Given the description of an element on the screen output the (x, y) to click on. 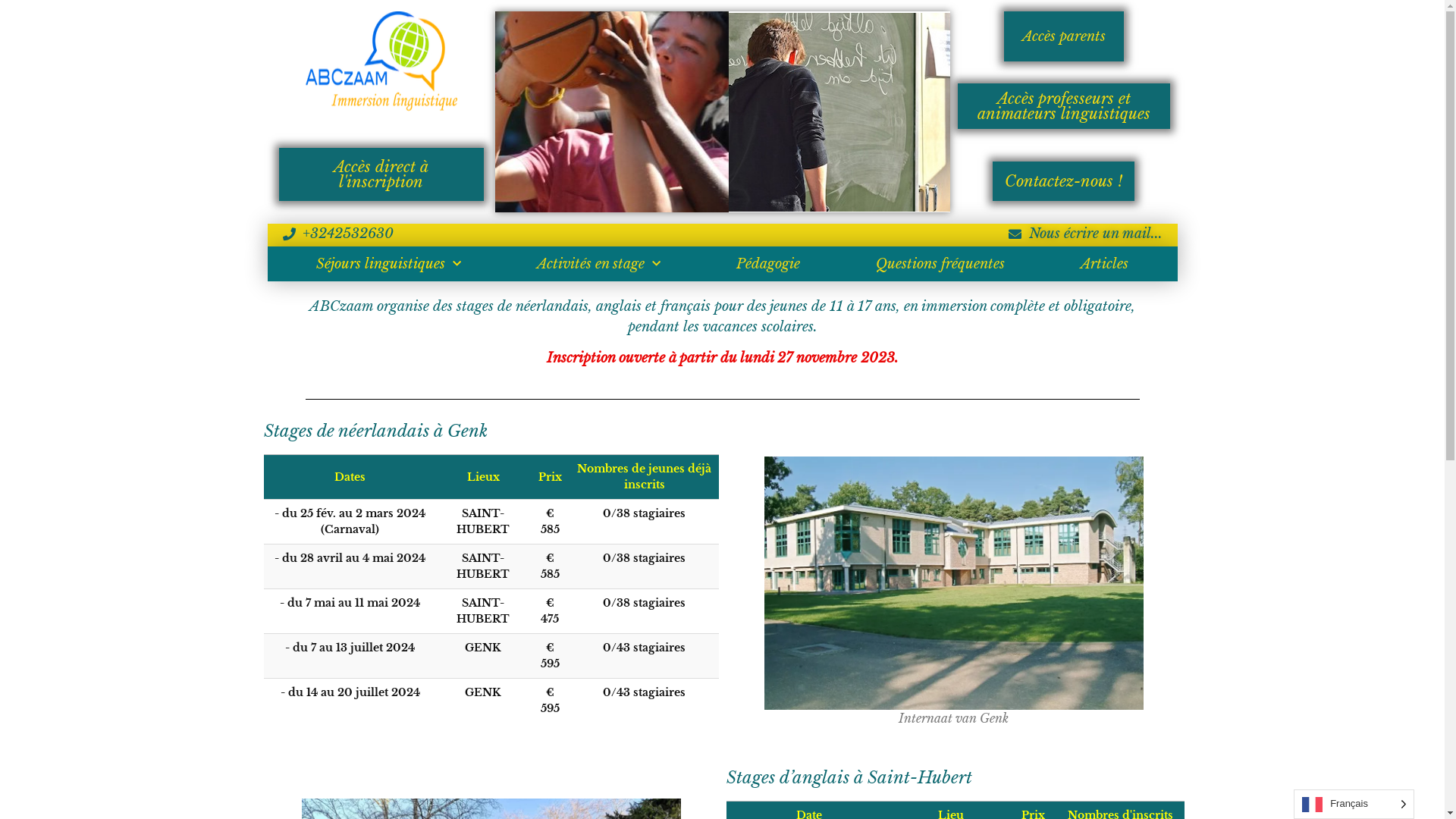
Contactez-nous ! Element type: text (1063, 180)
Articles Element type: text (1104, 263)
